Given the description of an element on the screen output the (x, y) to click on. 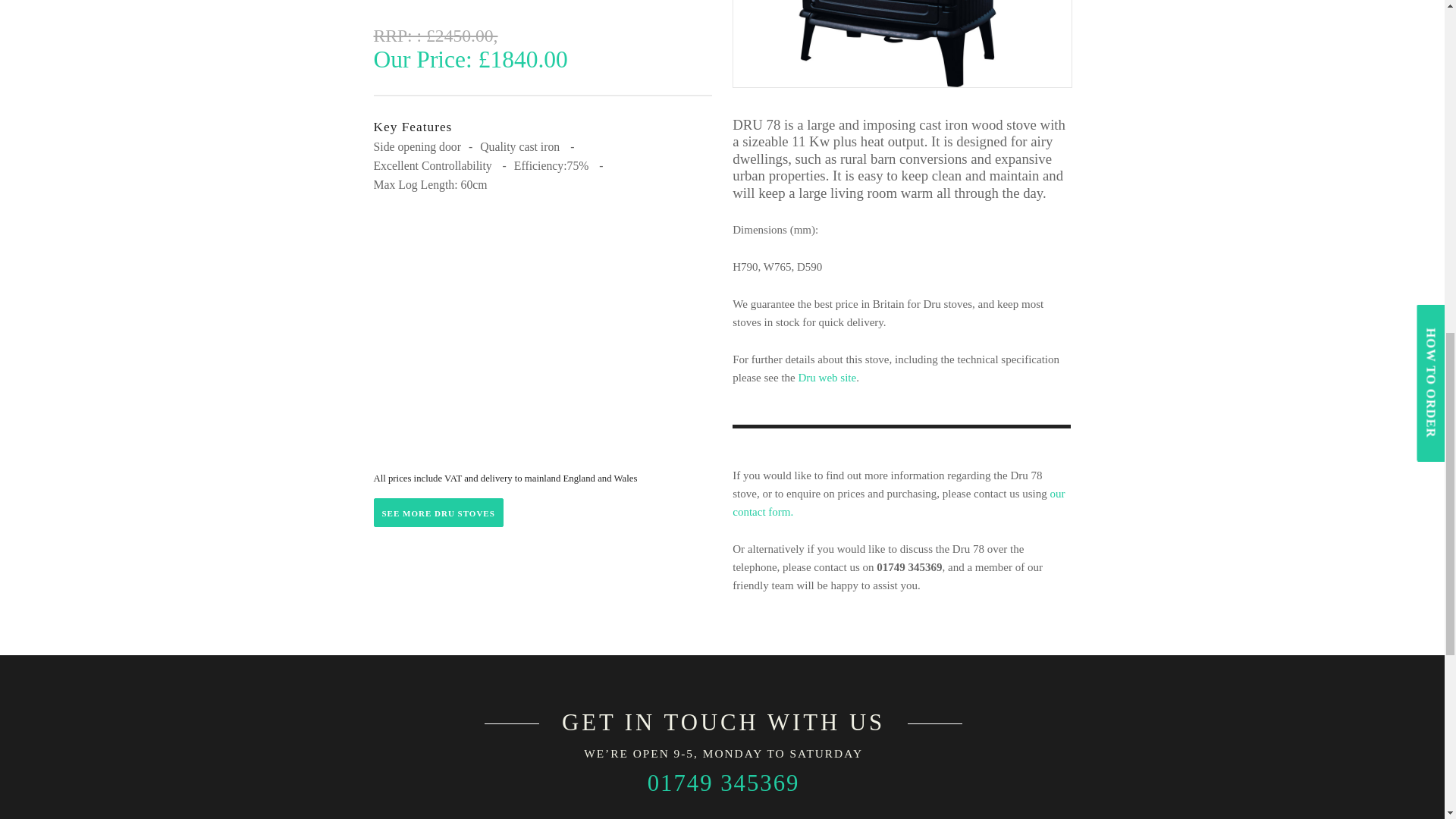
SEE MORE DRU STOVES (437, 512)
our contact form. (898, 502)
Dru web site (826, 377)
YouTube video player (547, 346)
